Given the description of an element on the screen output the (x, y) to click on. 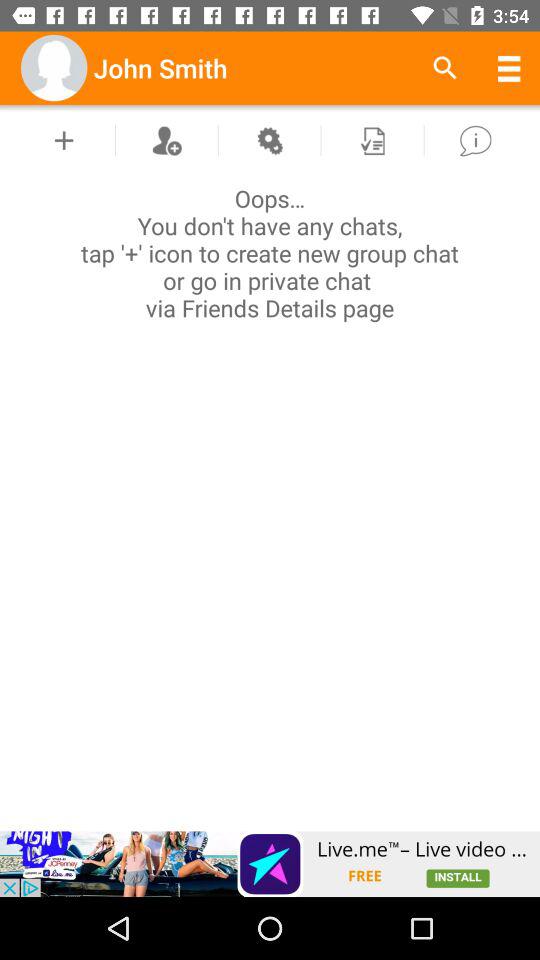
view advertisement (270, 864)
